Given the description of an element on the screen output the (x, y) to click on. 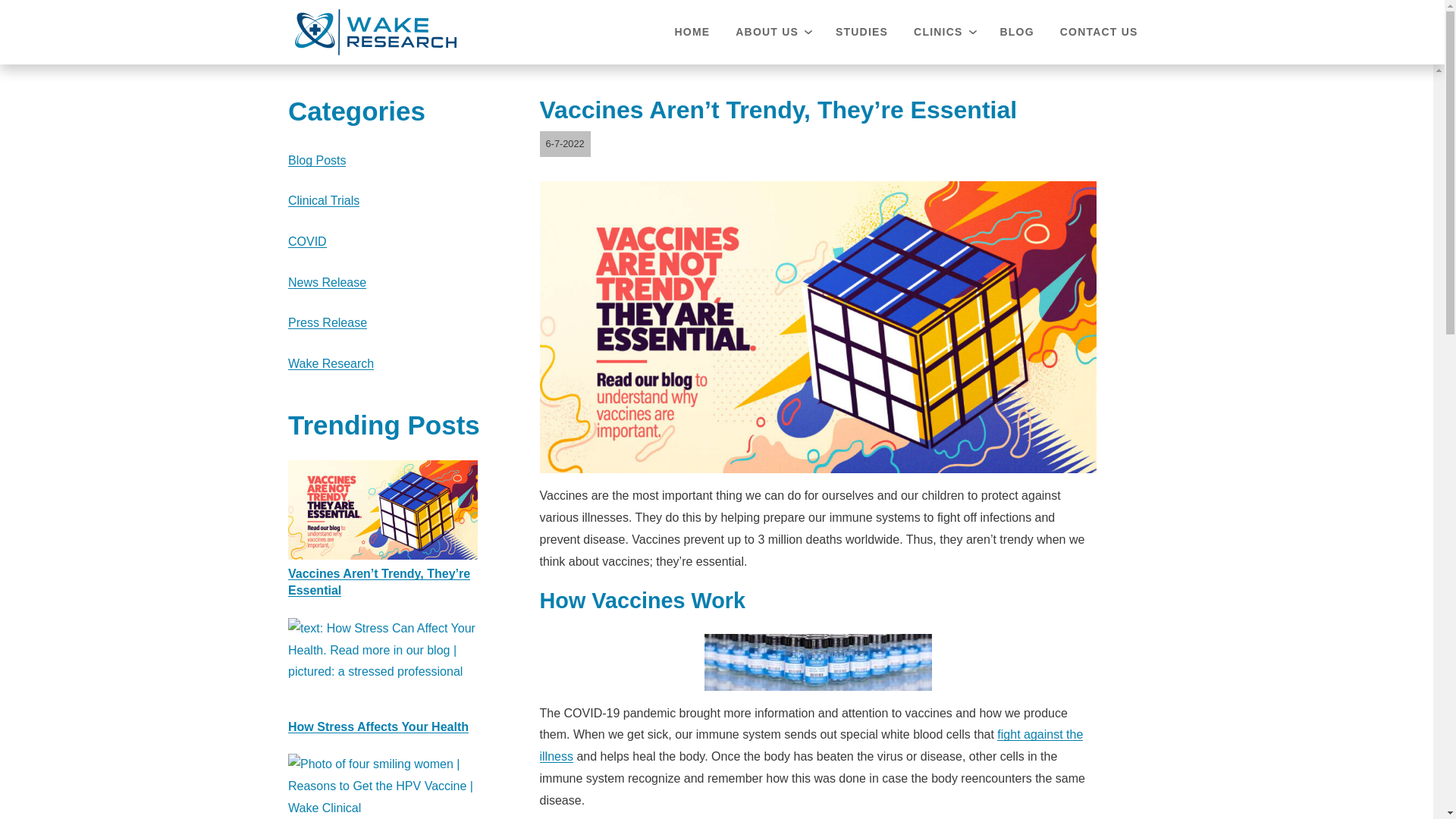
Clinical Trials (323, 200)
News Release (327, 282)
Blog Posts (317, 160)
HOME (691, 32)
STUDIES (861, 32)
CLINICS (944, 32)
Press Release (327, 322)
COVID (307, 241)
CONTACT US (1098, 32)
ABOUT US (772, 32)
BLOG (1016, 32)
